Given the description of an element on the screen output the (x, y) to click on. 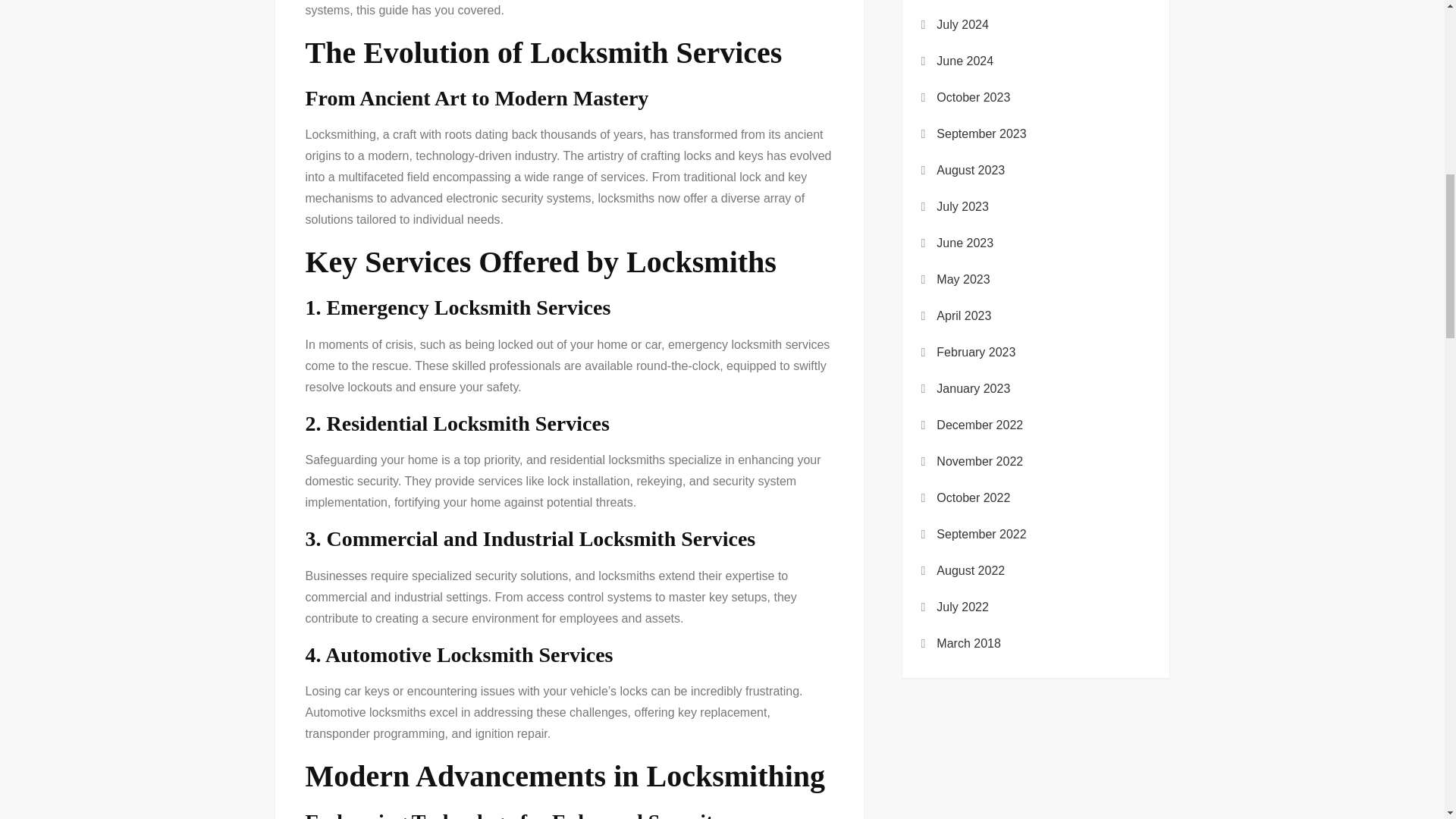
August 2022 (970, 570)
September 2022 (981, 534)
December 2022 (979, 424)
September 2023 (981, 133)
July 2024 (962, 25)
July 2023 (962, 206)
November 2022 (979, 461)
January 2023 (973, 388)
July 2022 (962, 607)
August 2023 (970, 169)
October 2023 (973, 97)
February 2023 (975, 352)
June 2023 (964, 242)
May 2023 (963, 279)
April 2023 (963, 315)
